Given the description of an element on the screen output the (x, y) to click on. 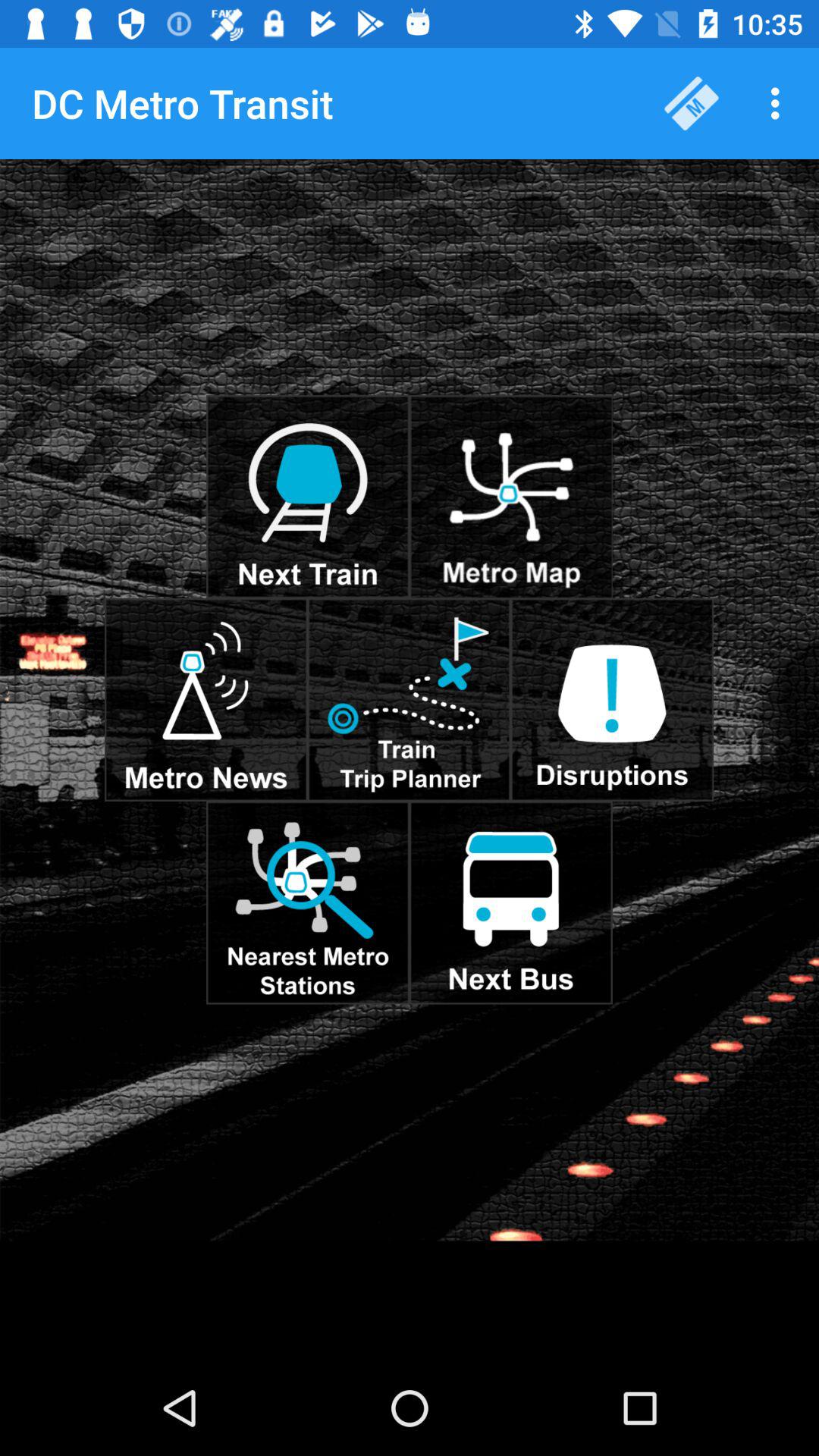
select train trip planner (408, 699)
